Given the description of an element on the screen output the (x, y) to click on. 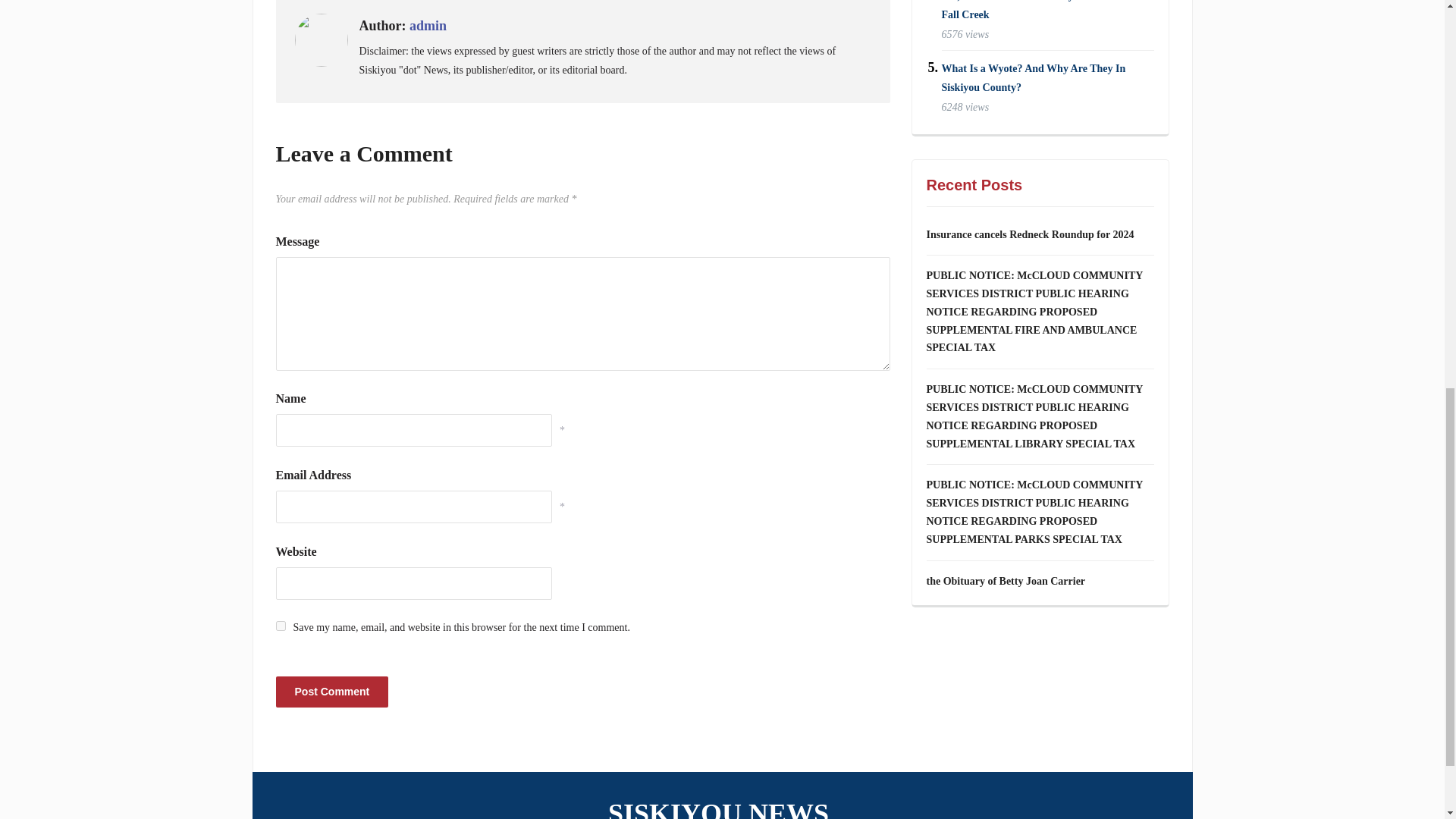
yes (280, 625)
Post Comment (332, 691)
